Given the description of an element on the screen output the (x, y) to click on. 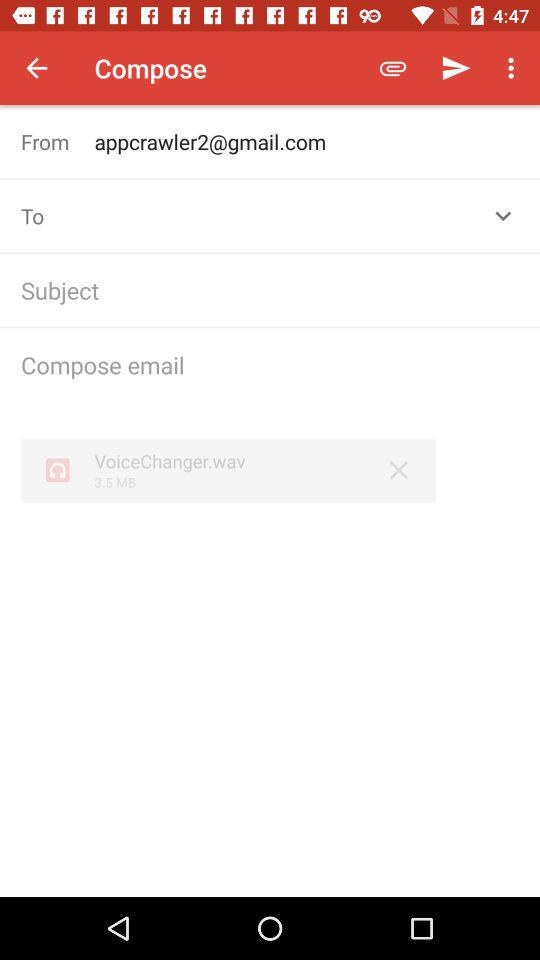
select the item above the appcrawler2@gmail.com (392, 67)
